Given the description of an element on the screen output the (x, y) to click on. 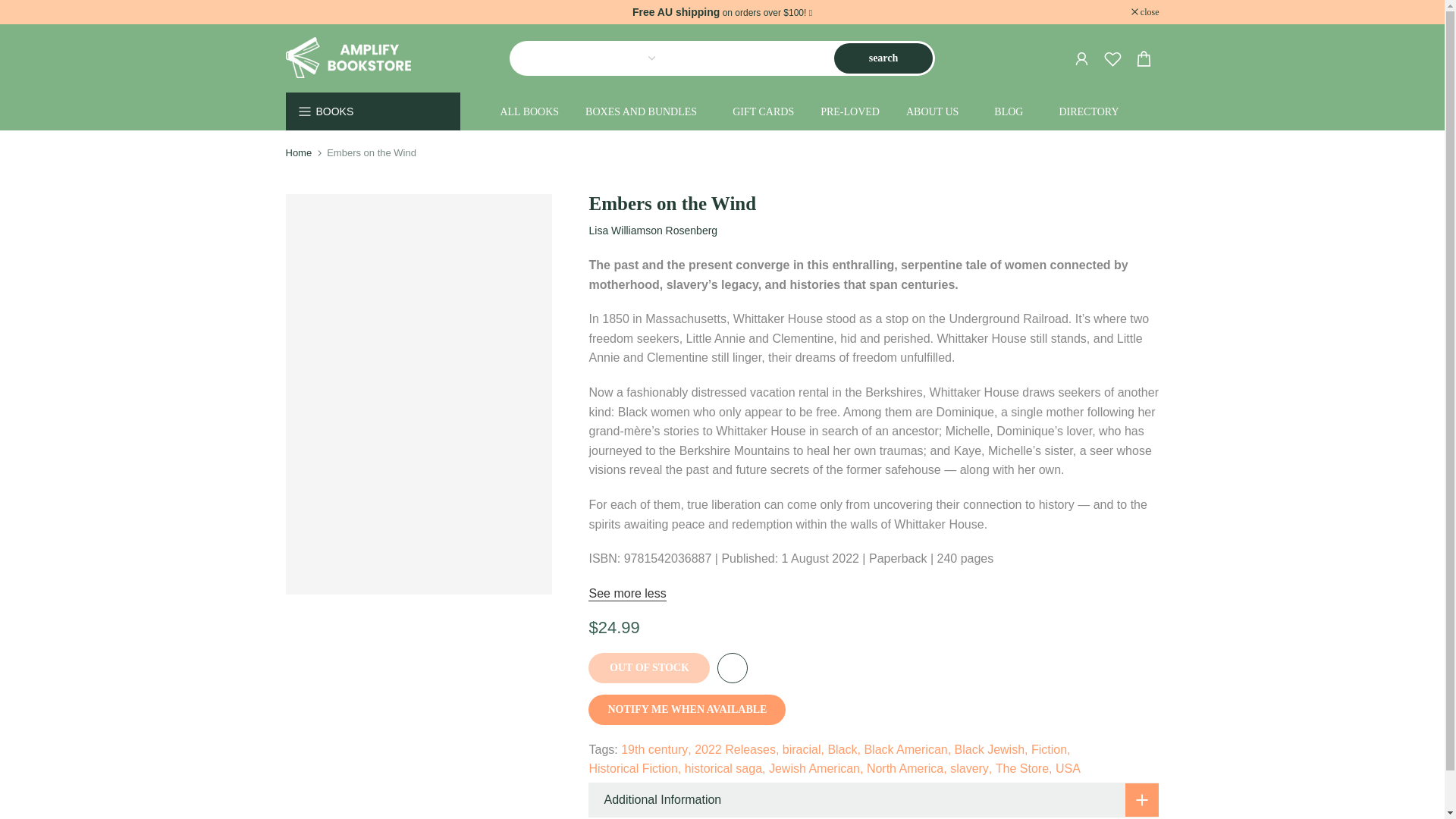
BLOG (1013, 112)
2022 Releases (736, 750)
biracial (803, 750)
GIFT CARDS (763, 112)
BOXES AND BUNDLES (645, 112)
Black Jewish (991, 750)
Fiction (1050, 750)
North America (906, 768)
ABOUT US (935, 112)
NOTIFY ME WHEN AVAILABLE (687, 709)
Historical Fiction (634, 768)
Jewish American (815, 768)
PRE-LOVED (850, 112)
Lisa Williamson Rosenberg (652, 230)
slavery (970, 768)
